Given the description of an element on the screen output the (x, y) to click on. 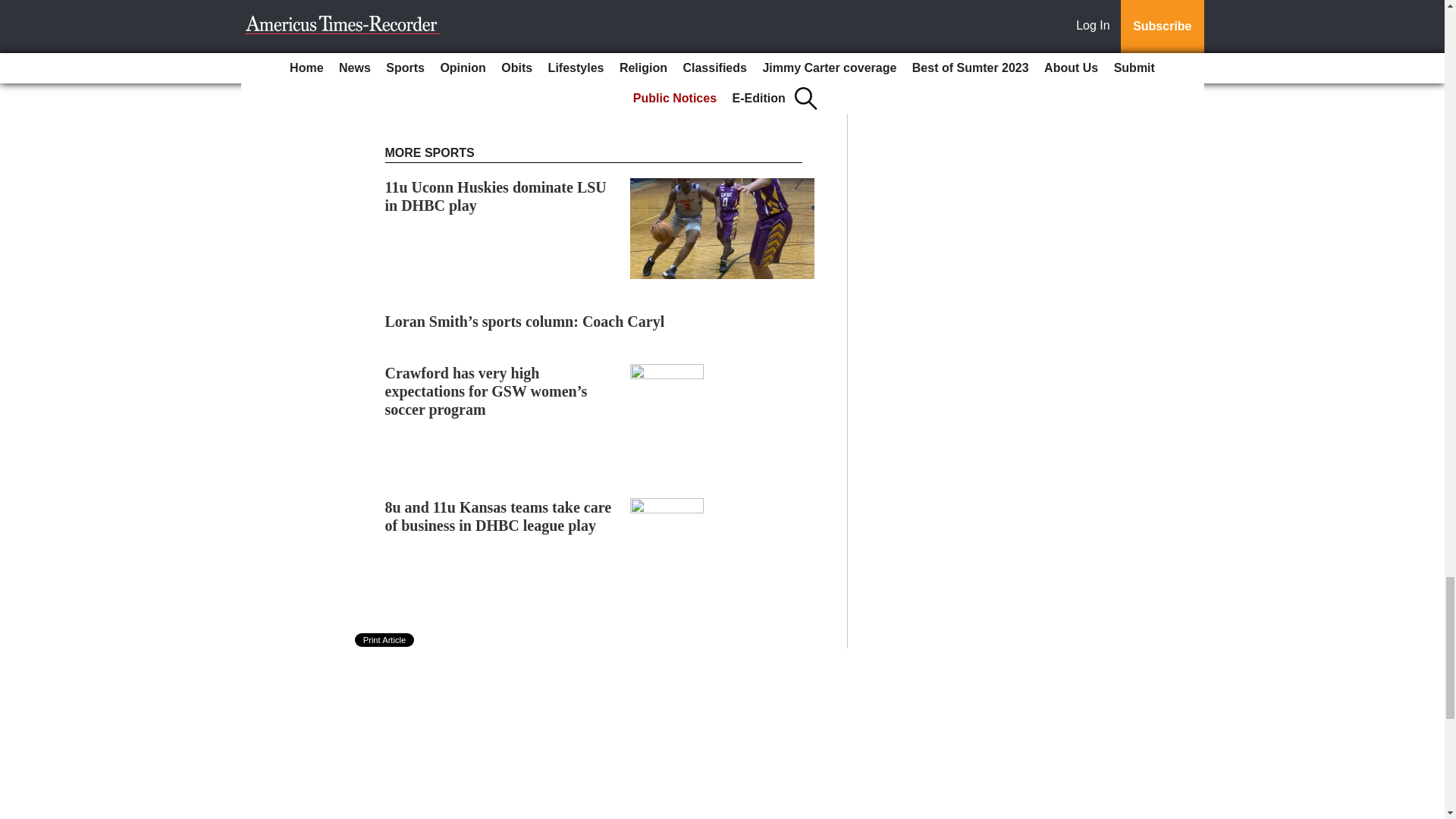
11u Uconn Huskies dominate LSU in DHBC play (496, 196)
Print Article (384, 640)
11u Uconn Huskies dominate LSU in DHBC play (496, 196)
